Given the description of an element on the screen output the (x, y) to click on. 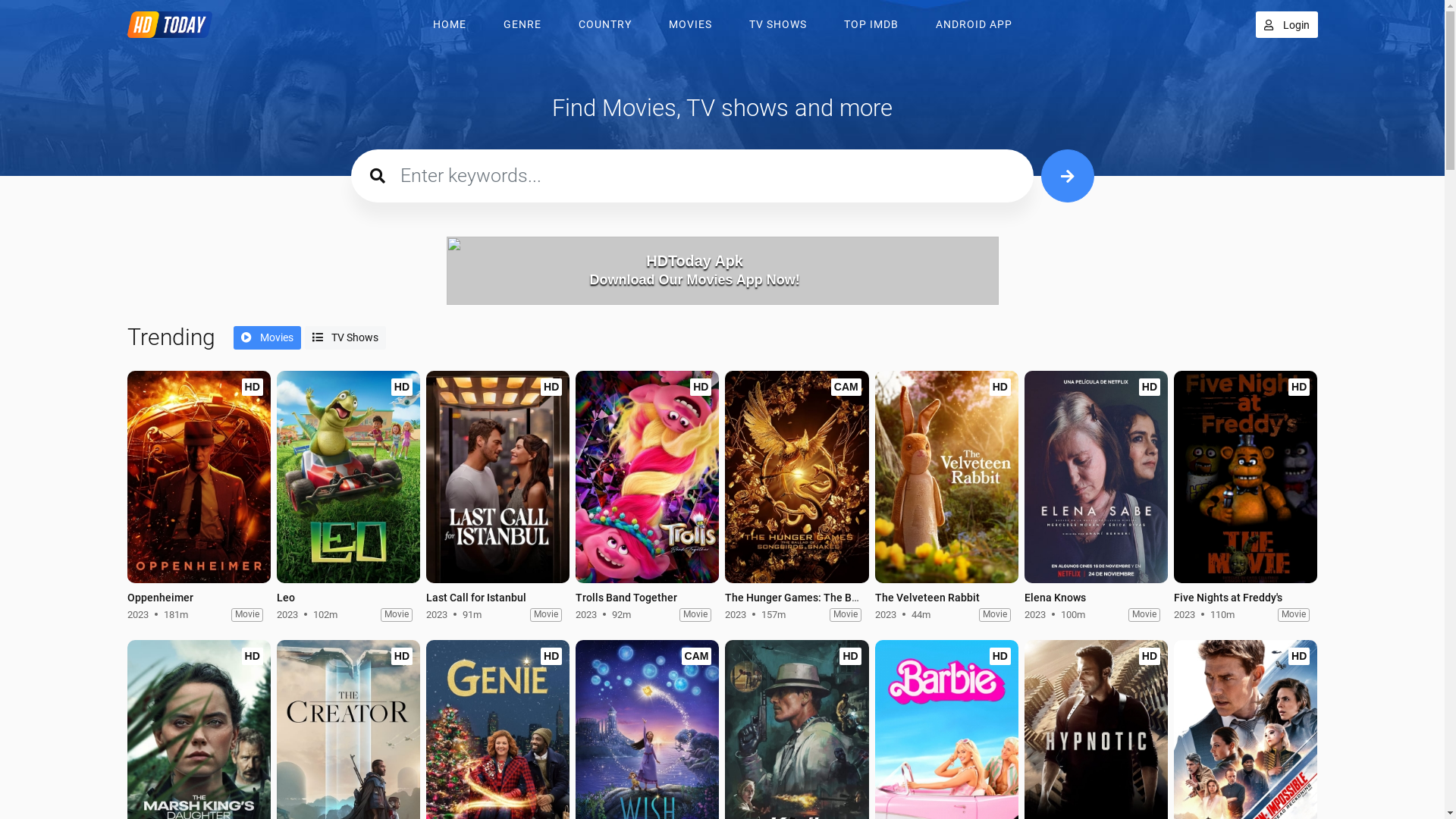
TV Shows Element type: text (344, 337)
The Velveteen Rabbit Element type: text (927, 597)
Last Call for Istanbul Element type: hover (497, 478)
Trolls Band Together Element type: hover (646, 478)
Elena Knows Element type: hover (1095, 478)
TV SHOWS Element type: text (778, 24)
Elena Knows Element type: hover (1095, 476)
The Hunger Games: The Ballad of Songbirds & Snakes Element type: hover (796, 476)
HDToday Apk
Download Our Movies App Now! Element type: text (721, 270)
HOME Element type: text (448, 24)
Login Element type: text (1286, 24)
HDToday Element type: hover (173, 24)
TOP IMDB Element type: text (870, 24)
Five Nights at Freddy's Element type: hover (1245, 476)
Last Call for Istanbul Element type: hover (497, 476)
The Hunger Games: The Ballad of Songbirds & Snakes Element type: text (854, 597)
GENRE Element type: text (522, 24)
Leo Element type: hover (348, 478)
MOVIES Element type: text (690, 24)
The Hunger Games: The Ballad of Songbirds & Snakes Element type: hover (796, 478)
Elena Knows Element type: text (1054, 597)
Oppenheimer Element type: hover (198, 478)
The Velveteen Rabbit Element type: hover (946, 478)
Trolls Band Together Element type: hover (646, 476)
Trolls Band Together Element type: text (626, 597)
The Velveteen Rabbit Element type: hover (946, 476)
COUNTRY Element type: text (604, 24)
Last Call for Istanbul Element type: text (476, 597)
Oppenheimer Element type: text (160, 597)
Leo Element type: hover (348, 476)
Movies Element type: text (267, 337)
ANDROID APP Element type: text (973, 24)
Oppenheimer Element type: hover (198, 476)
Five Nights at Freddy's Element type: text (1227, 597)
Leo Element type: text (285, 597)
